Given the description of an element on the screen output the (x, y) to click on. 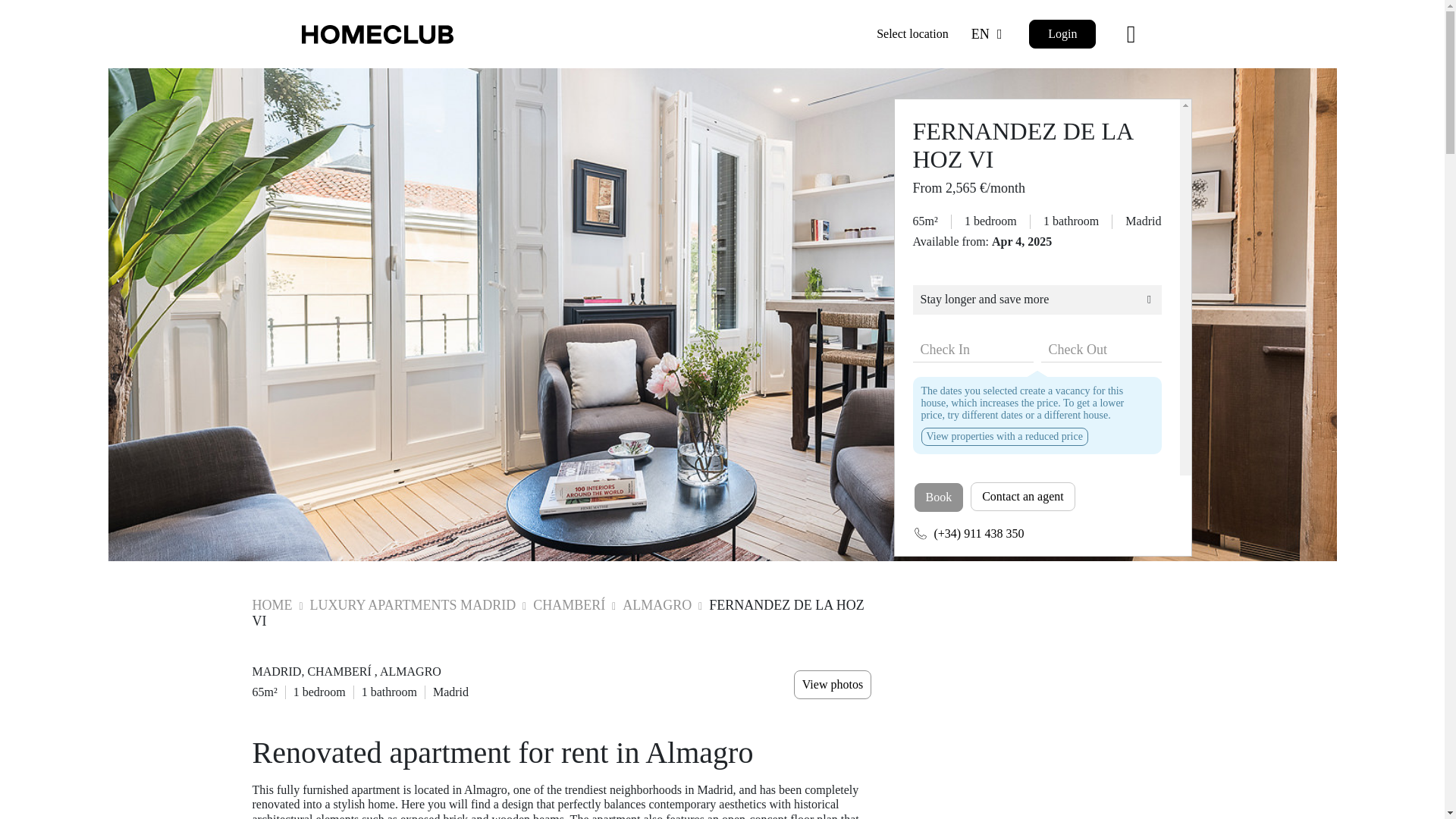
LUXURY APARTMENTS MADRID (411, 604)
EN (989, 34)
HOME (273, 604)
Login (1062, 33)
